Given the description of an element on the screen output the (x, y) to click on. 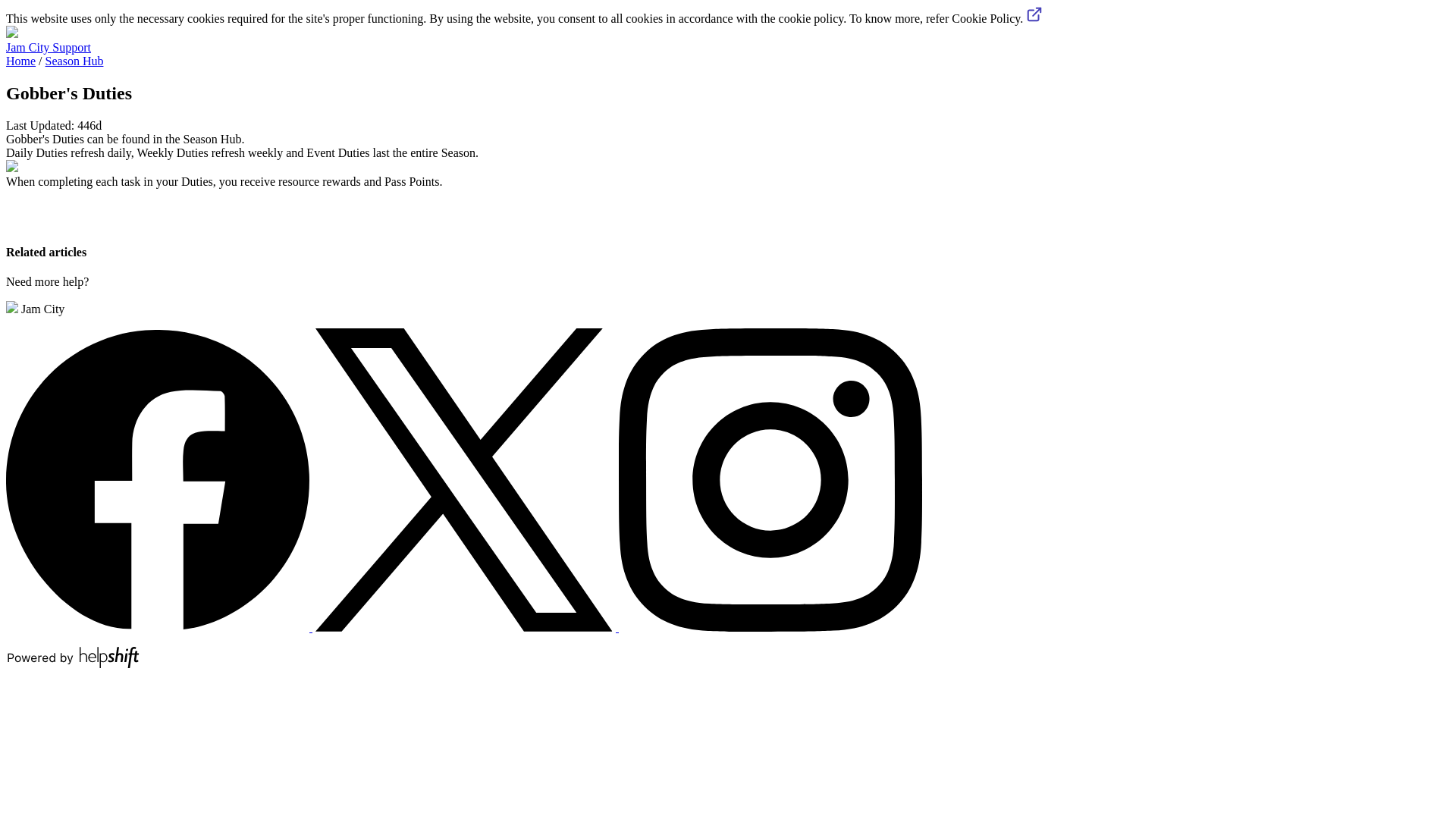
Home (19, 60)
Season Hub (74, 60)
Logo Facebook (159, 626)
Logo Instagram (769, 479)
Logo Instagram (769, 626)
Jam City Support (47, 47)
Logo Facebook (156, 479)
Jam City (34, 308)
